Given the description of an element on the screen output the (x, y) to click on. 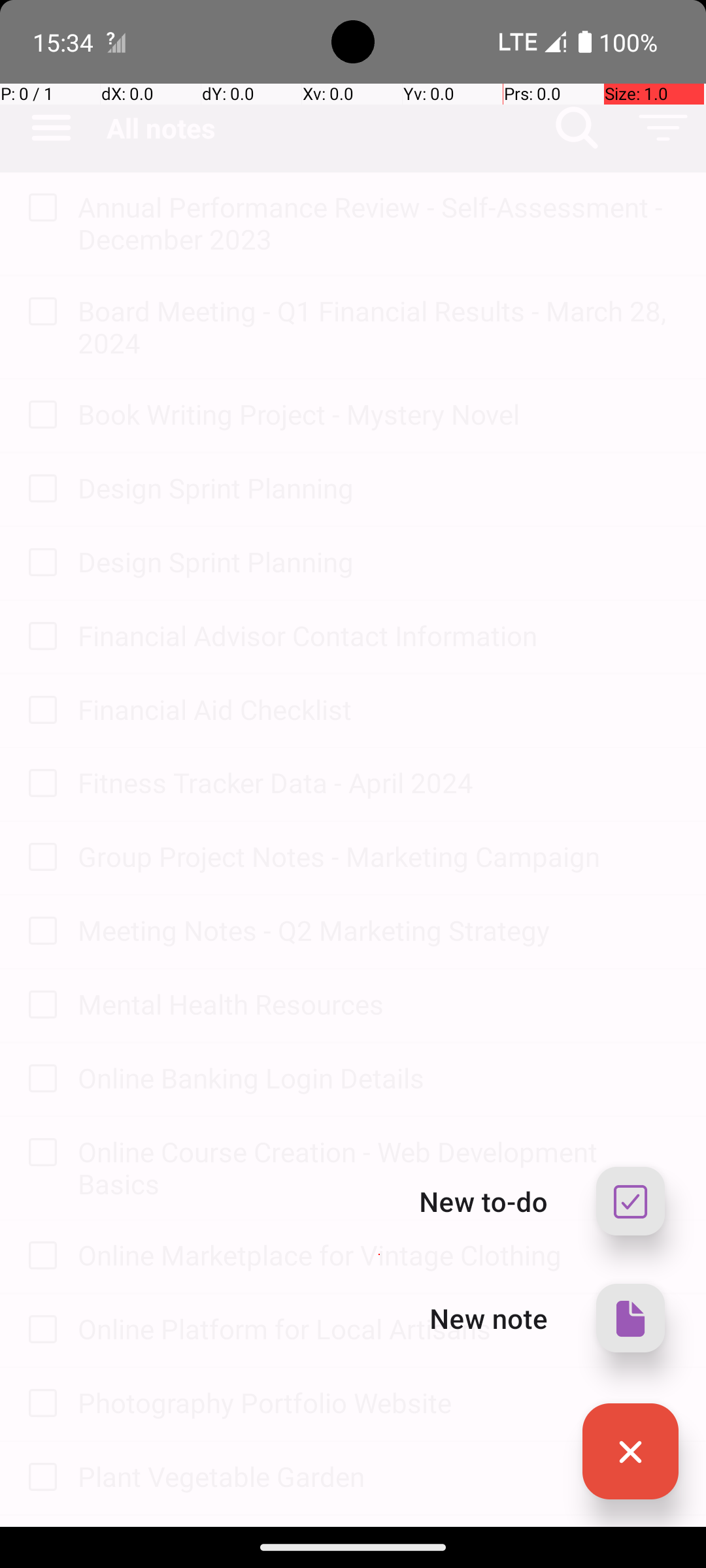
New to-do Element type: android.widget.Button (483, 1201)
New note Element type: android.widget.Button (488, 1317)
Add new, expanded Element type: android.widget.Button (630, 1451)
 Element type: android.widget.TextView (630, 1317)
 Element type: android.widget.TextView (630, 1450)
to-do: Board Meeting - Q1 Financial Results - March 28, 2024 Element type: android.widget.CheckBox (38, 312)
Board Meeting - Q1 Financial Results - March 28, 2024 Element type: android.widget.TextView (378, 326)
to-do: Book Writing Project - Mystery Novel Element type: android.widget.CheckBox (38, 415)
Book Writing Project - Mystery Novel Element type: android.widget.TextView (378, 413)
to-do: Design Sprint Planning Element type: android.widget.CheckBox (38, 489)
Design Sprint Planning Element type: android.widget.TextView (378, 487)
to-do: Financial Aid Checklist Element type: android.widget.CheckBox (38, 710)
Financial Aid Checklist Element type: android.widget.TextView (378, 708)
to-do: Fitness Tracker Data - April 2024 Element type: android.widget.CheckBox (38, 783)
Fitness Tracker Data - April 2024 Element type: android.widget.TextView (378, 781)
to-do: Meeting Notes - Q2 Marketing Strategy Element type: android.widget.CheckBox (38, 931)
Meeting Notes - Q2 Marketing Strategy Element type: android.widget.TextView (378, 929)
to-do: Mental Health Resources Element type: android.widget.CheckBox (38, 1005)
Mental Health Resources Element type: android.widget.TextView (378, 1003)
to-do: Online Banking Login Details Element type: android.widget.CheckBox (38, 1079)
Online Banking Login Details Element type: android.widget.TextView (378, 1077)
to-do: Online Course Creation - Web Development Basics Element type: android.widget.CheckBox (38, 1153)
Online Course Creation - Web Development Basics Element type: android.widget.TextView (378, 1167)
to-do: Online Marketplace for Vintage Clothing Element type: android.widget.CheckBox (38, 1256)
Online Marketplace for Vintage Clothing Element type: android.widget.TextView (378, 1254)
to-do: Online Platform for Local Artisans Element type: android.widget.CheckBox (38, 1330)
Online Platform for Local Artisans Element type: android.widget.TextView (378, 1328)
to-do: Photography Portfolio Website Element type: android.widget.CheckBox (38, 1404)
Photography Portfolio Website Element type: android.widget.TextView (378, 1402)
to-do: Plant Vegetable Garden Element type: android.widget.CheckBox (38, 1477)
Plant Vegetable Garden Element type: android.widget.TextView (378, 1475)
to-do: Quarterly Sales Meeting Element type: android.widget.CheckBox (38, 1520)
